Given the description of an element on the screen output the (x, y) to click on. 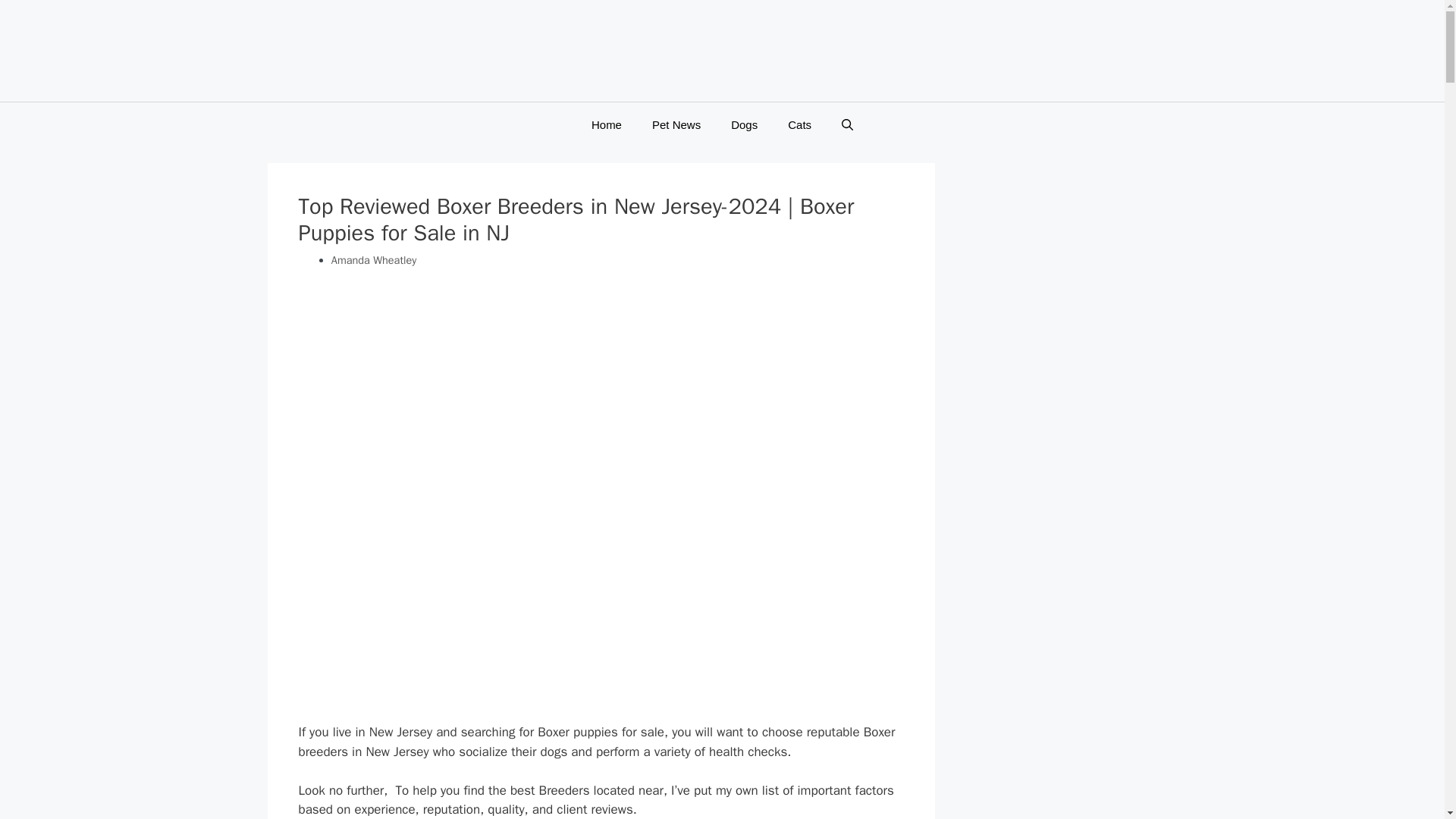
Cats (800, 125)
Pet News (676, 125)
The Pet Guide Home (722, 53)
Dogs (744, 125)
Amanda Wheatley (373, 259)
Amanda Wheatley (373, 259)
Home (606, 125)
The Pet Guide Home (722, 54)
